Given the description of an element on the screen output the (x, y) to click on. 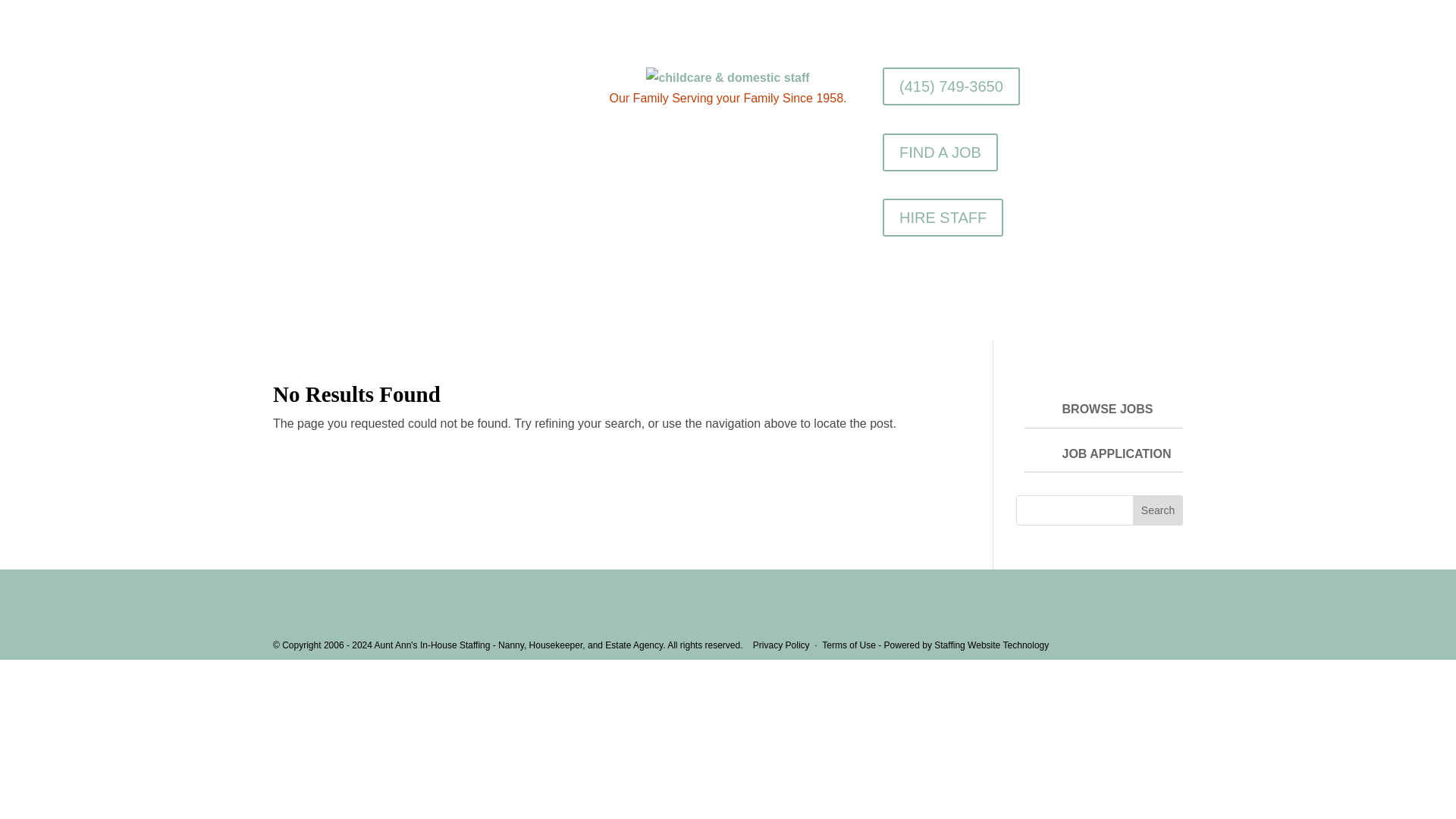
FIND A JOB (939, 152)
Employers (664, 321)
HIRE STAFF (942, 217)
Candidates (744, 321)
Search (1157, 510)
Domestic Staff (574, 321)
Nanny Agency (476, 321)
